Given the description of an element on the screen output the (x, y) to click on. 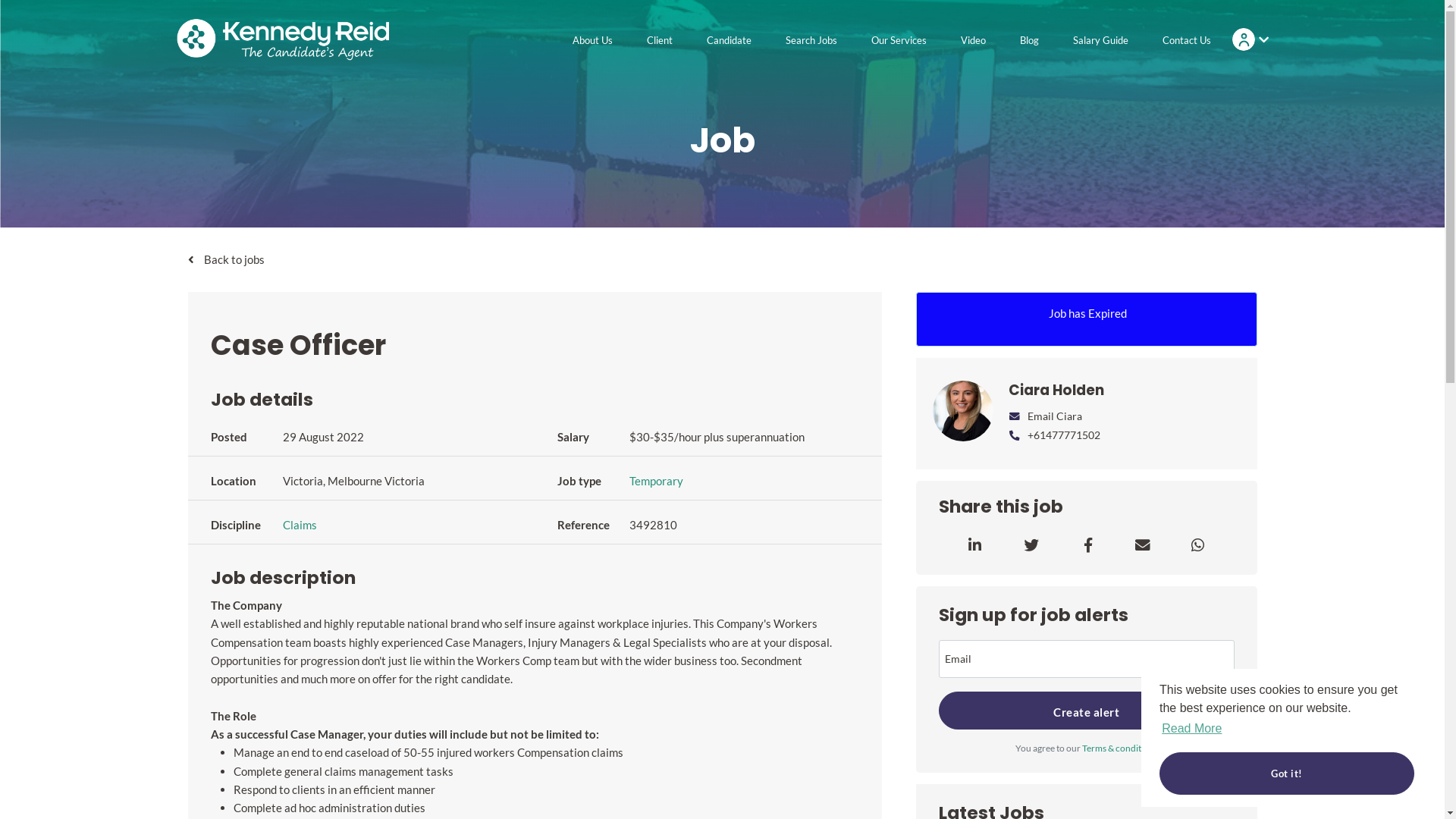
Search Jobs Element type: text (811, 40)
Terms & conditions Element type: text (1119, 747)
About Us Element type: text (592, 40)
+61477771502 Element type: text (1054, 435)
Claims Element type: text (299, 524)
Candidate Element type: text (728, 40)
Video Element type: text (972, 40)
Our Services Element type: text (898, 40)
Client Element type: text (659, 40)
Salary Guide Element type: text (1100, 40)
Blog Element type: text (1028, 40)
Ciara Holden Element type: text (1123, 390)
Contact Us Element type: text (1186, 40)
Create alert Element type: text (1086, 710)
Temporary Element type: text (656, 480)
Read More Element type: text (1191, 728)
Email Ciara Element type: text (1045, 416)
Got it! Element type: text (1286, 773)
Back to jobs Element type: text (722, 259)
